Given the description of an element on the screen output the (x, y) to click on. 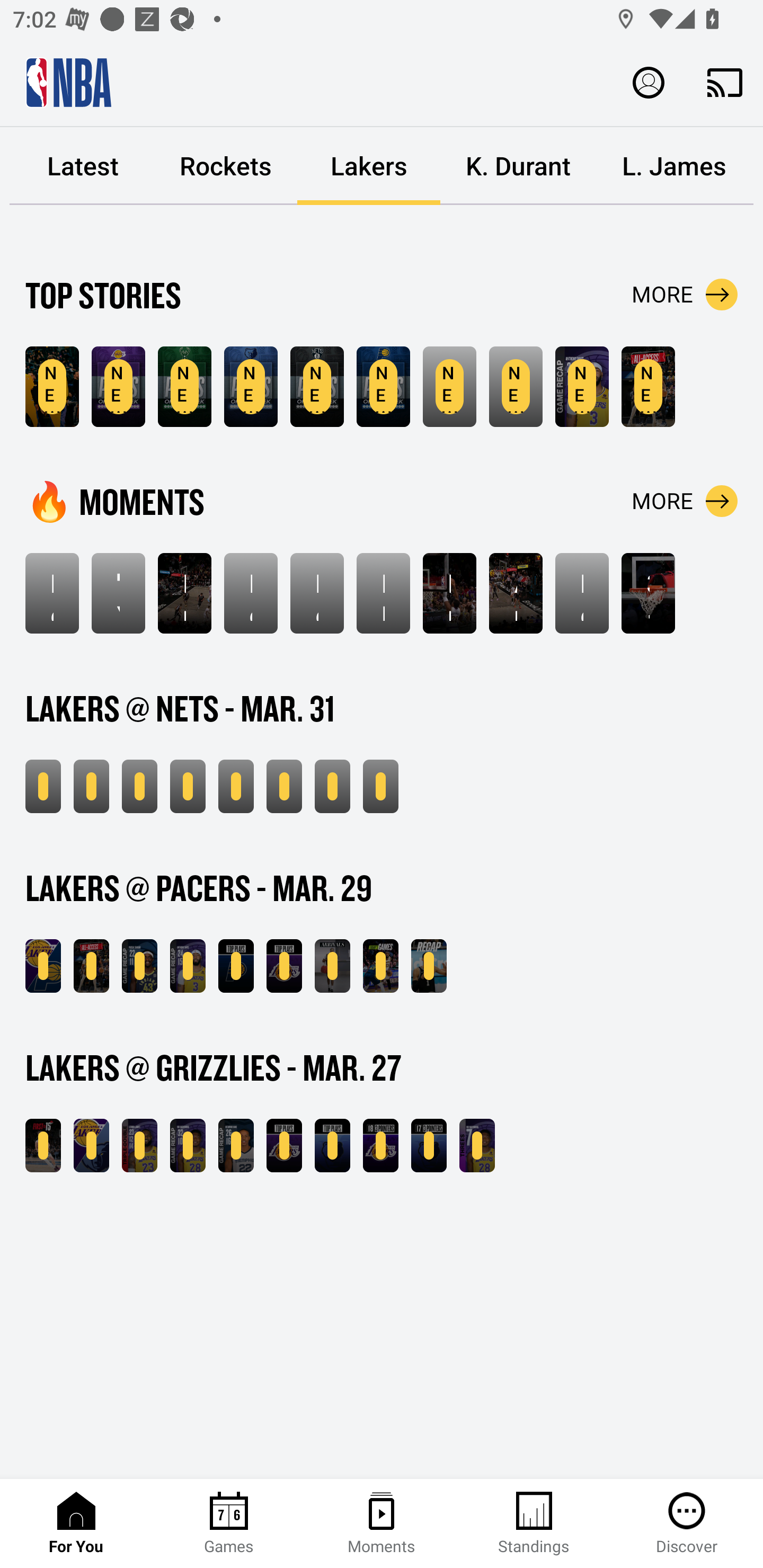
Cast. Disconnected (724, 82)
Profile (648, 81)
Latest (82, 166)
Rockets (225, 166)
K. Durant (518, 166)
L. James (673, 166)
MORE (684, 294)
NEW Hillbilly Bogey: Austin Reaves On Golf Dreams (51, 386)
NEW LAL's Top Plays of Week 23 (117, 386)
NEW MIL's Top Plays of Week 23 (184, 386)
NEW MEM's Top Plays of Week 23 (250, 386)
NEW BKN's Top Plays of Week 23 (317, 386)
IND's Top Plays of Week 23 NEW (383, 386)
Cam Thomas vs. LeBron James Battle NEW (449, 386)
Lakers Visit Nets In Brooklyn 🌉 NEW (515, 386)
Highlights From Anthony Davis's 24-Point Game NEW (581, 386)
Lakers, Pacers Battle In Indy NEW (648, 386)
MORE (684, 500)
LeBron's 40-Point Explosion In 40 Seconds (51, 593)
"Yeah, LeBron James!" 🗣️😂 (117, 593)
Rui Hachimura with the assist (184, 593)
LeBron James gets the 3 to fall (250, 593)
LeBron James with the 3-pointer (317, 593)
LBJ Hits The WILD 3 While Fading 👑 (383, 593)
Rui Hachimura rises to finish the alley-oop (449, 593)
Anthony Davis denies the attempt (515, 593)
LeBron James with the slam (581, 593)
3-pointer by D'Angelo Russell (648, 593)
NEW Lakers Visit Nets In Brooklyn 🌉 (43, 785)
NEW LAL @ BKN HIGHLIGHTS (91, 785)
NEW Highlights From LeBron James' 9-3-pointer Game (139, 785)
NEW Highlights From Cam Thomas' 30-Point Game (187, 785)
NEW LAL's Top Plays from LAL vs. BKN (236, 785)
BKN's Top Plays from LAL vs. BKN NEW (284, 785)
Cam Thomas vs. LeBron James Battle NEW (332, 785)
Sunday's Recap NEW (380, 785)
NEW LAL @ IND HIGHLIGHTS (43, 965)
NEW Lakers, Pacers Battle In Indy (91, 965)
NEW Highlights From Pascal Siakam's 22-Point Game (139, 965)
NEW Highlights From Anthony Davis's 24-Point Game (187, 965)
NEW IND's Top Plays from LAL vs. IND (236, 965)
LAL's Top Plays from LAL vs. IND NEW (284, 965)
Friday Night Fashion 😎 NEW (332, 965)
Lakers-Pacers On NBA TV 📺 NEW (380, 965)
Friday's Recap NEW (428, 965)
NEW First to 15 Mar. 27th (43, 1145)
NEW LAL @ MEM HIGHLIGHTS (91, 1145)
NEW Highlights from LeBron James' Triple-Double (139, 1145)
NEW Highlights From Rui Hachimura's 32-Point Game (187, 1145)
NEW Highlights From Desmond Bane's 26-Point Game (236, 1145)
LAL's Top Plays from LAL vs. MEM NEW (284, 1145)
MEM's Top Plays from LAL vs. MEM NEW (332, 1145)
All 3's from LAL's 18 3-Pointer Night NEW (380, 1145)
All 3's from MEM's 17 3-Pointer Night NEW (428, 1145)
Games (228, 1523)
Moments (381, 1523)
Standings (533, 1523)
Discover (686, 1523)
